Given the description of an element on the screen output the (x, y) to click on. 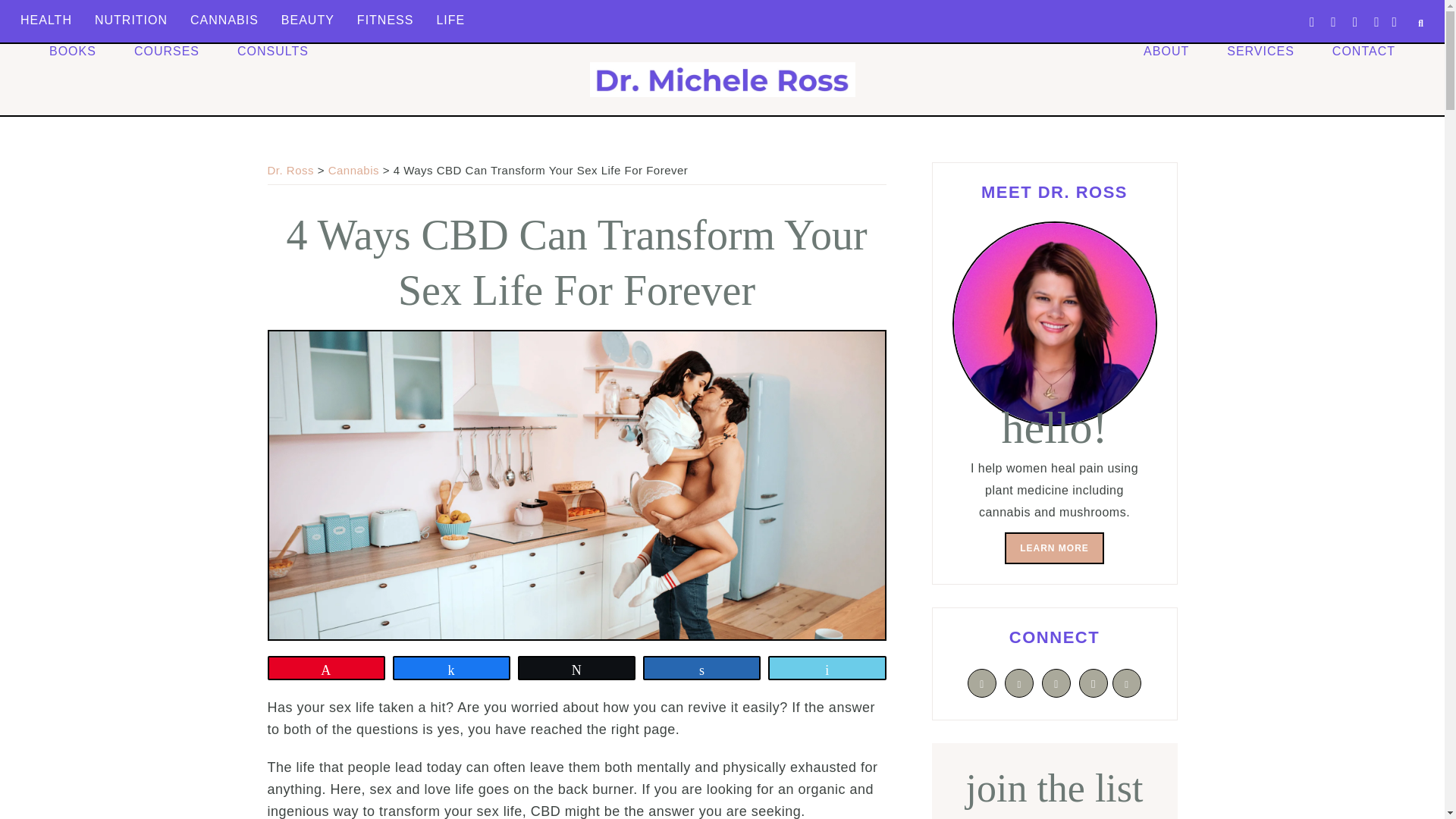
FITNESS (385, 19)
LIFE (450, 19)
NUTRITION (130, 19)
CANNABIS (224, 19)
BEAUTY (307, 19)
HEALTH (45, 19)
